Given the description of an element on the screen output the (x, y) to click on. 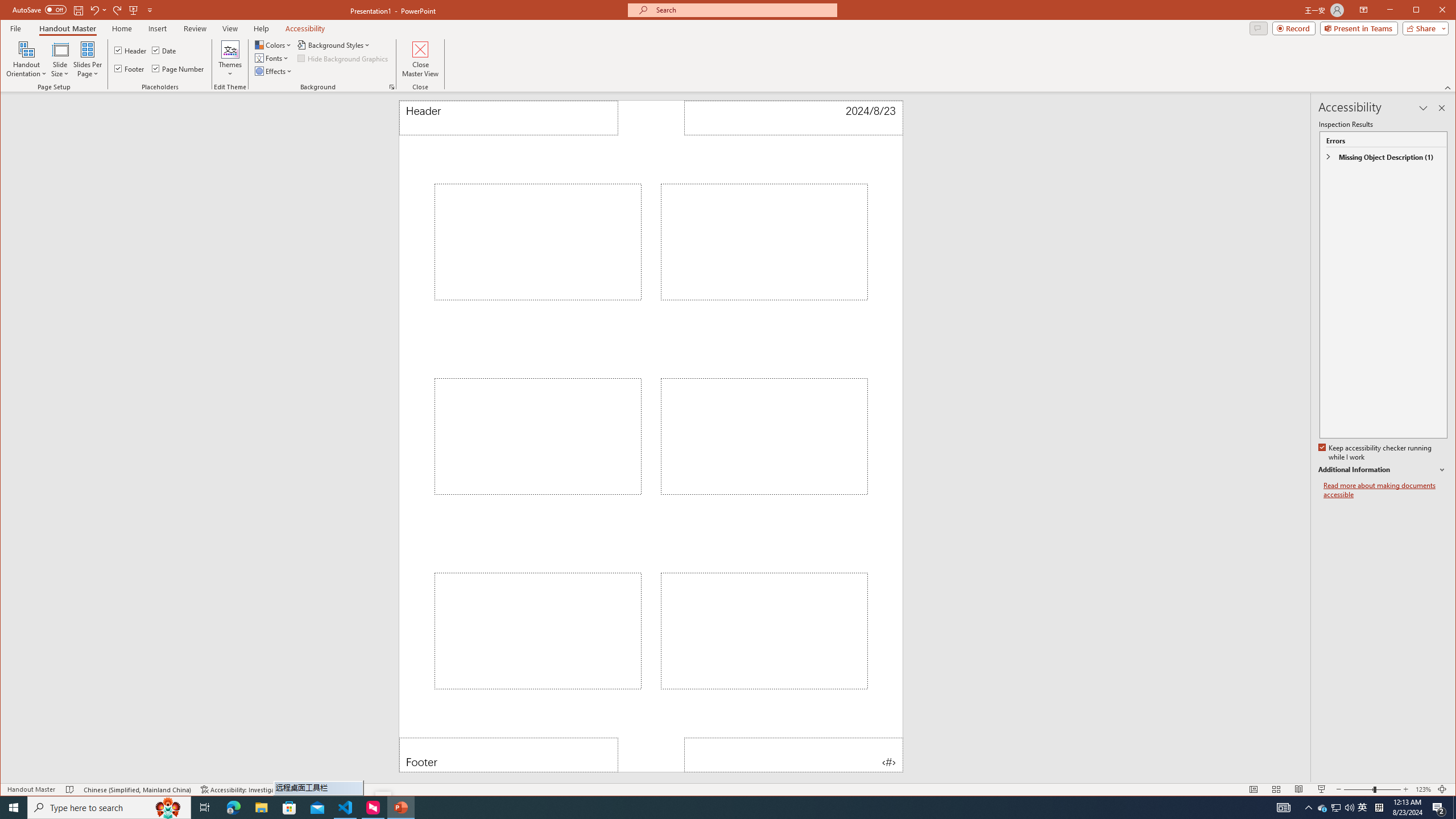
Task View (204, 807)
Header (508, 117)
Slides Per Page (87, 59)
Notification Chevron (1308, 807)
Background Styles (334, 44)
Read more about making documents accessible (1385, 489)
